Given the description of an element on the screen output the (x, y) to click on. 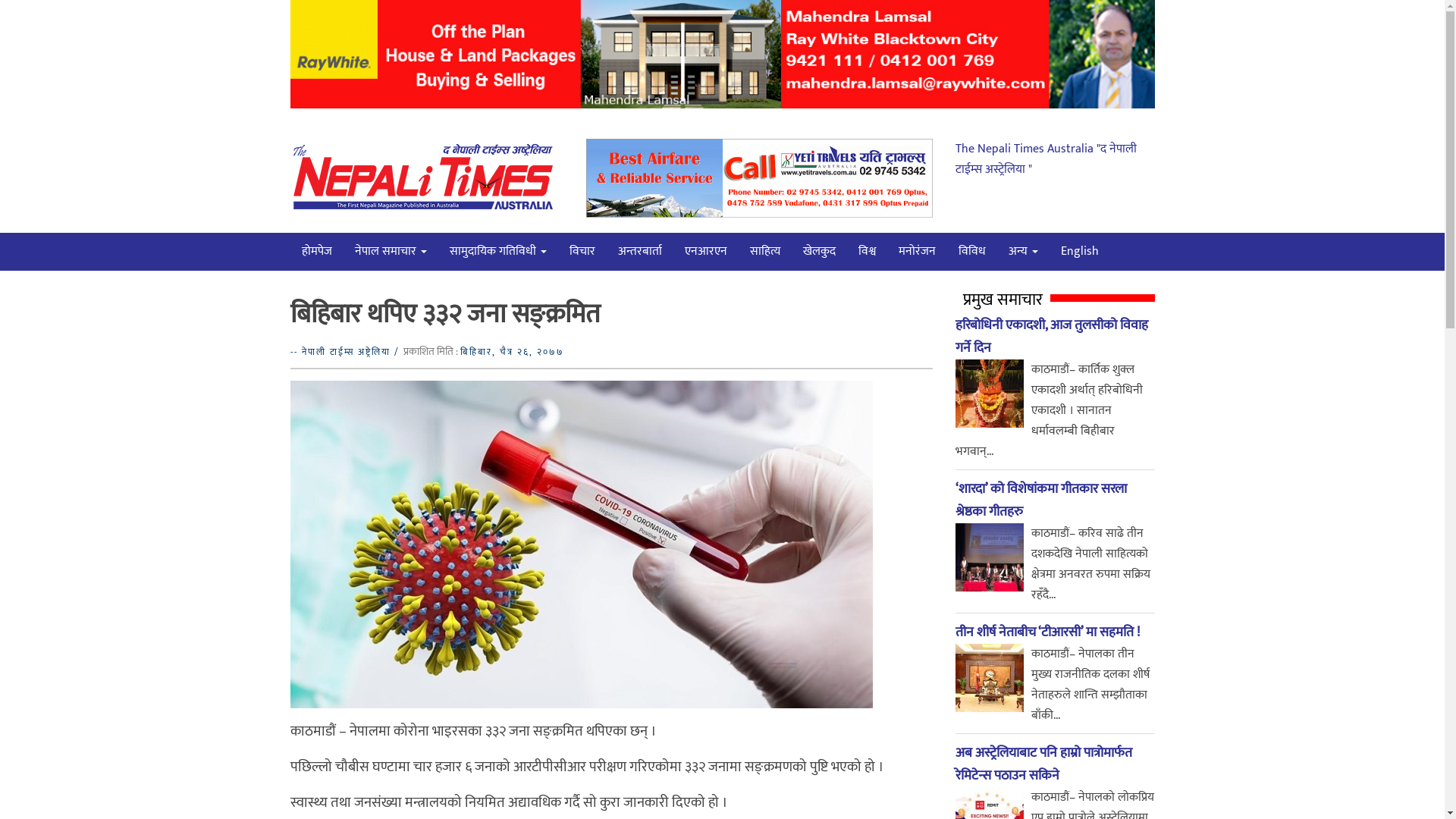
English Element type: text (1079, 251)
